Given the description of an element on the screen output the (x, y) to click on. 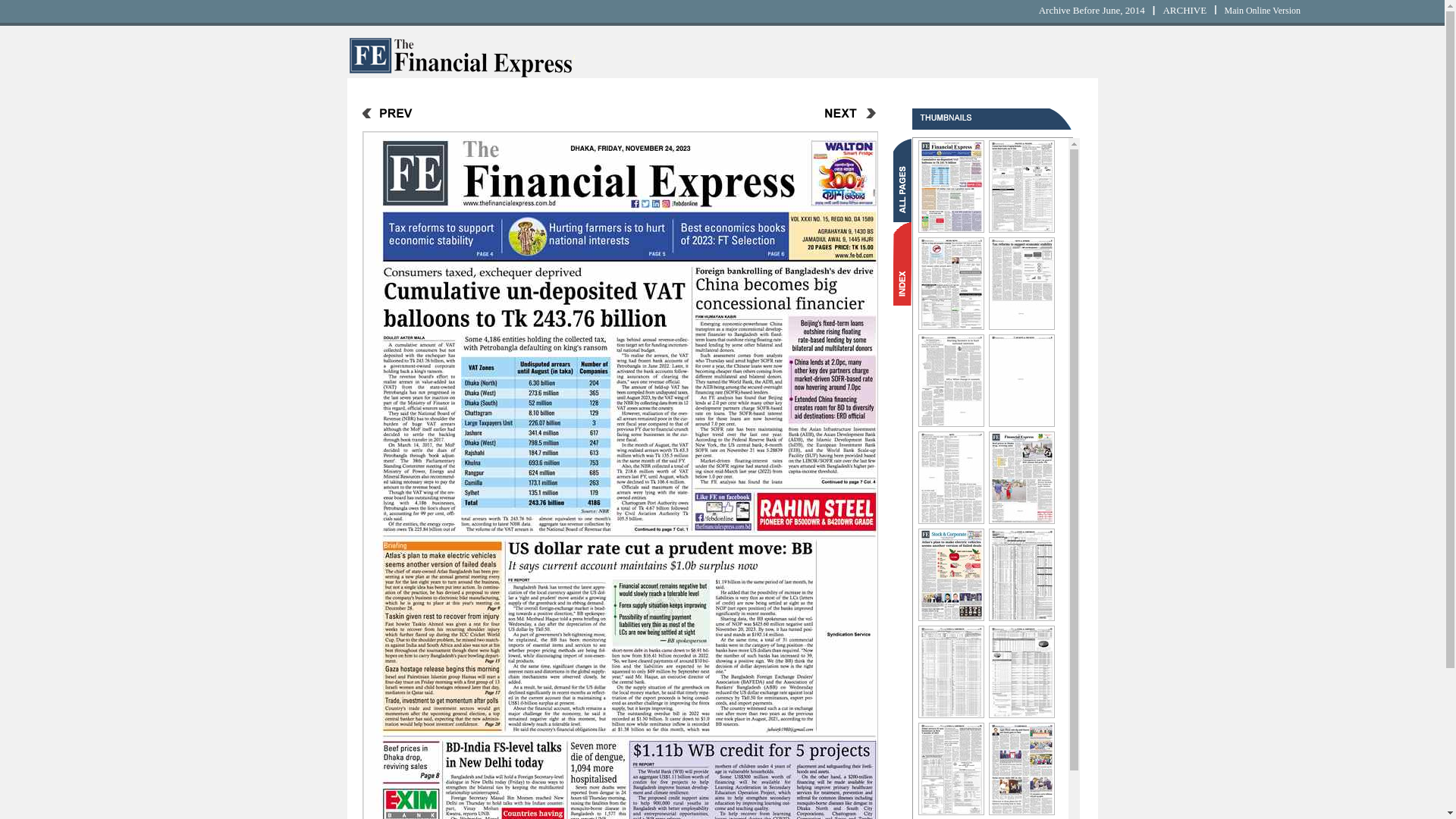
ePaper of The Financial Express Element type: hover (460, 55)
The Financial Express ePaper Element type: hover (460, 74)
